Given the description of an element on the screen output the (x, y) to click on. 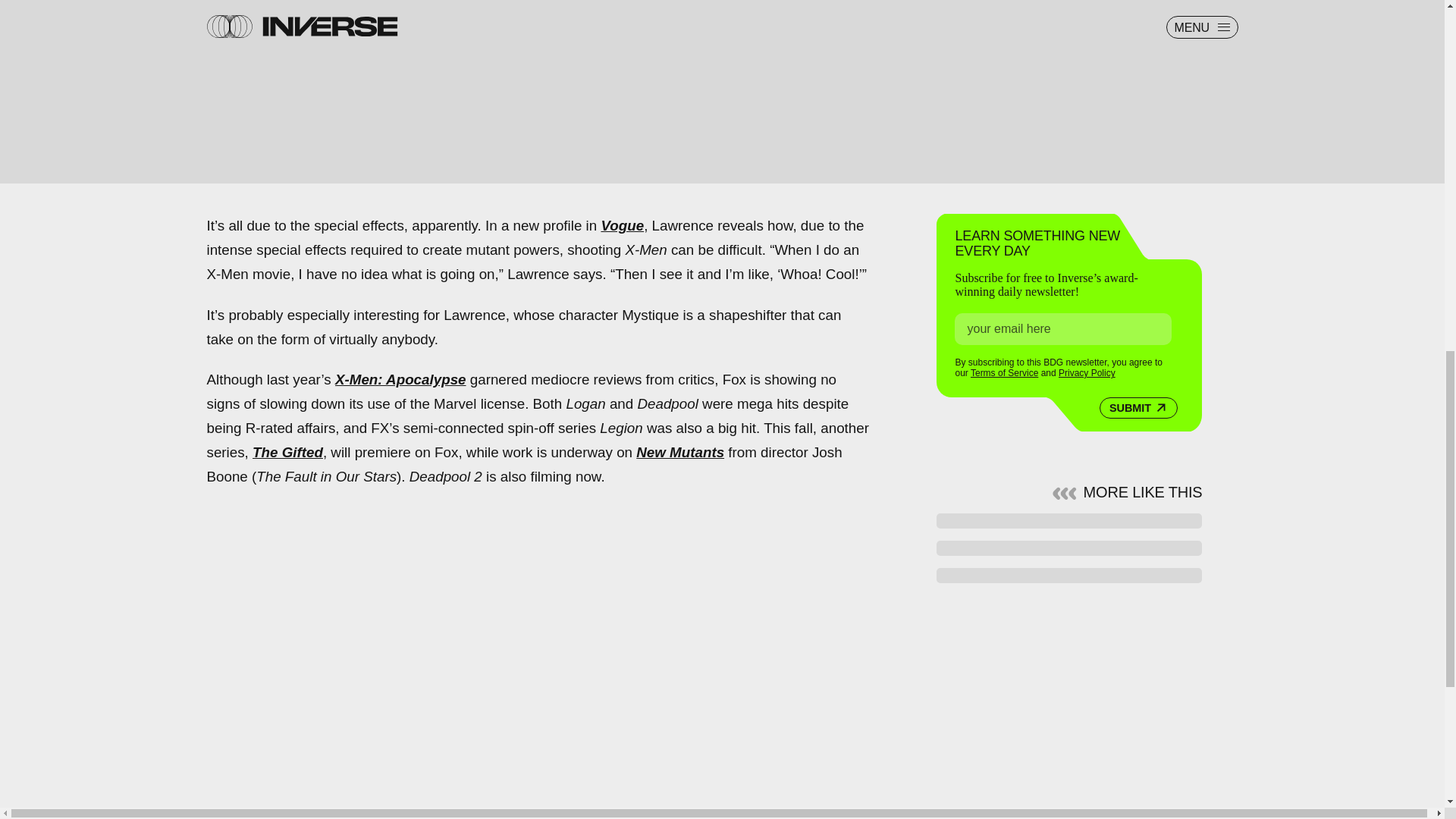
X-Men: Apocalypse (399, 379)
Terms of Service (1004, 372)
Vogue (621, 225)
New Mutants (679, 452)
SUBMIT (1138, 407)
Privacy Policy (1086, 372)
The Gifted (287, 452)
